Given the description of an element on the screen output the (x, y) to click on. 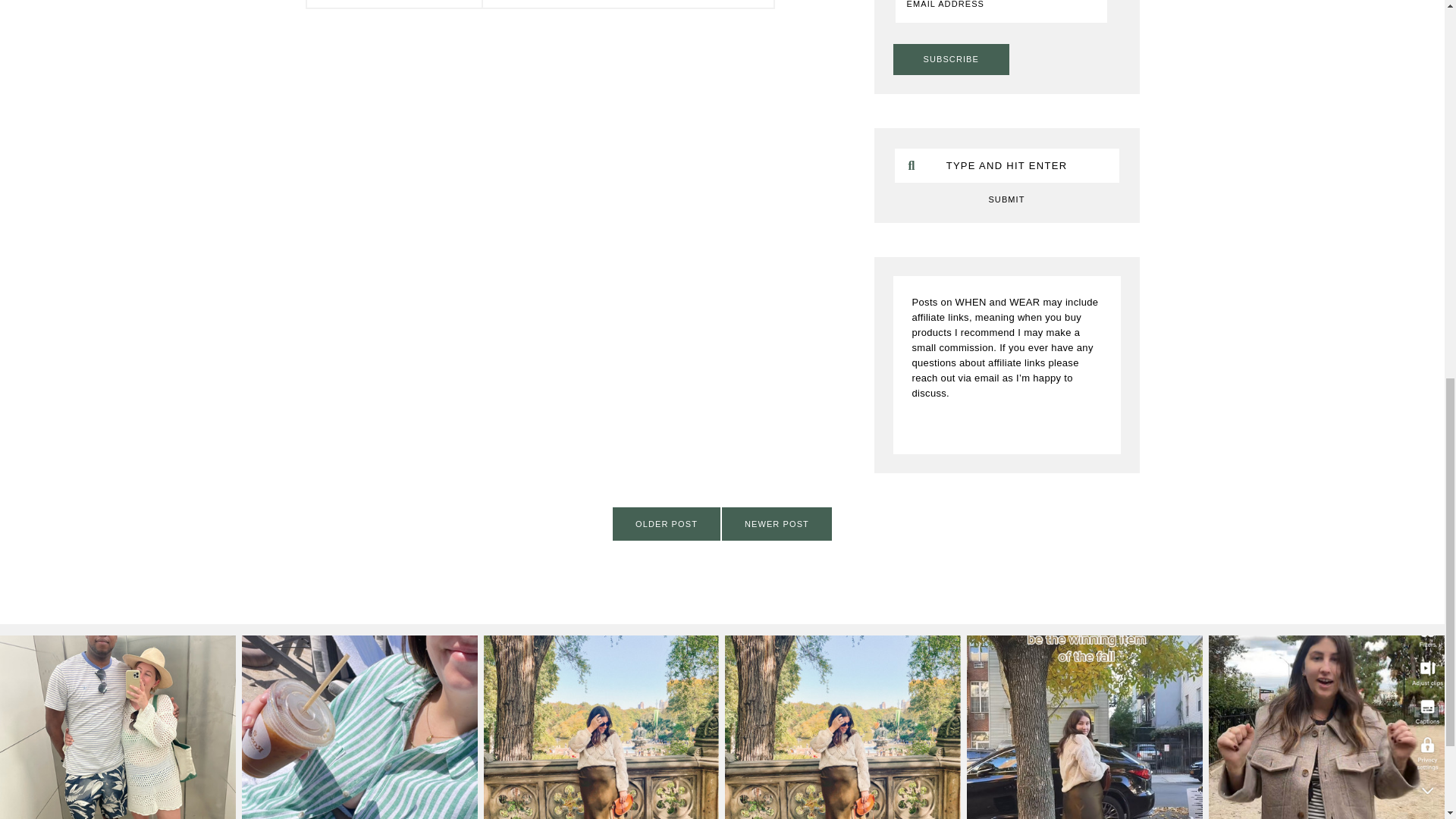
Type and hit enter (1006, 165)
Type and hit enter (1006, 165)
